Given the description of an element on the screen output the (x, y) to click on. 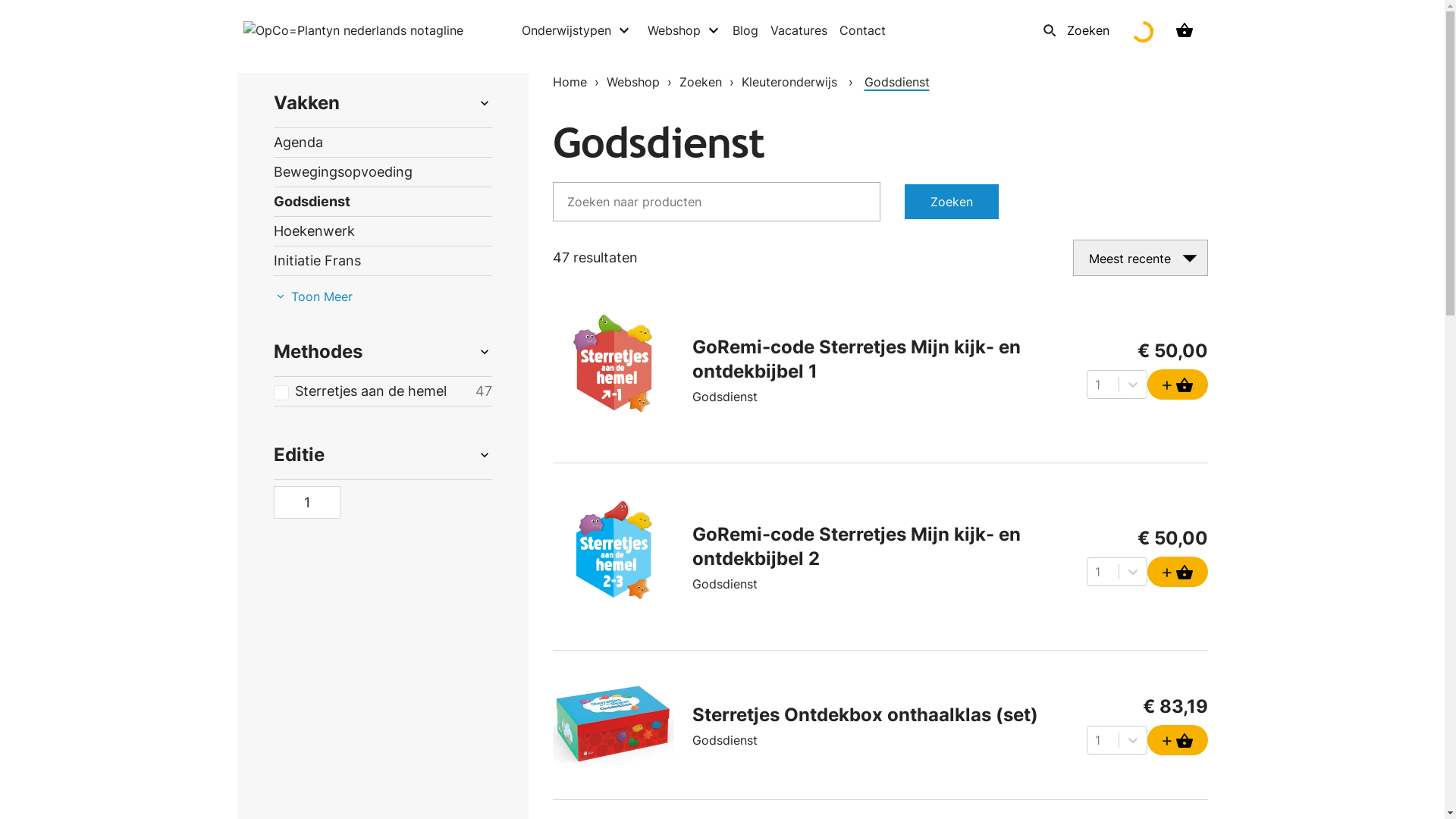
OpCo=Plantyn nederlands notagline Element type: hover (353, 30)
Zoeken Element type: text (700, 81)
Hoekenwerk Element type: text (382, 230)
Godsdienst Element type: text (382, 201)
Webshop Element type: text (632, 81)
Blog Element type: text (745, 30)
Sterretjes aan de hemel
47 Element type: text (382, 390)
Contact Element type: text (862, 30)
Vacatures Element type: text (798, 30)
Sterretjes Ontdekbox onthaalklas (set) Element type: text (864, 714)
Zoeken Element type: text (950, 201)
Bewegingsopvoeding Element type: text (382, 171)
Kleuteronderwijs Element type: text (789, 81)
GoRemi-code Sterretjes Mijn kijk- en ontdekbijbel 1 Element type: text (864, 359)
Home Element type: text (569, 81)
GoRemi-code Sterretjes Mijn kijk- en ontdekbijbel 2 Element type: text (864, 546)
Zoeken Element type: text (1071, 30)
1 Element type: text (309, 506)
Initiatie Frans Element type: text (382, 260)
Agenda Element type: text (382, 142)
